Given the description of an element on the screen output the (x, y) to click on. 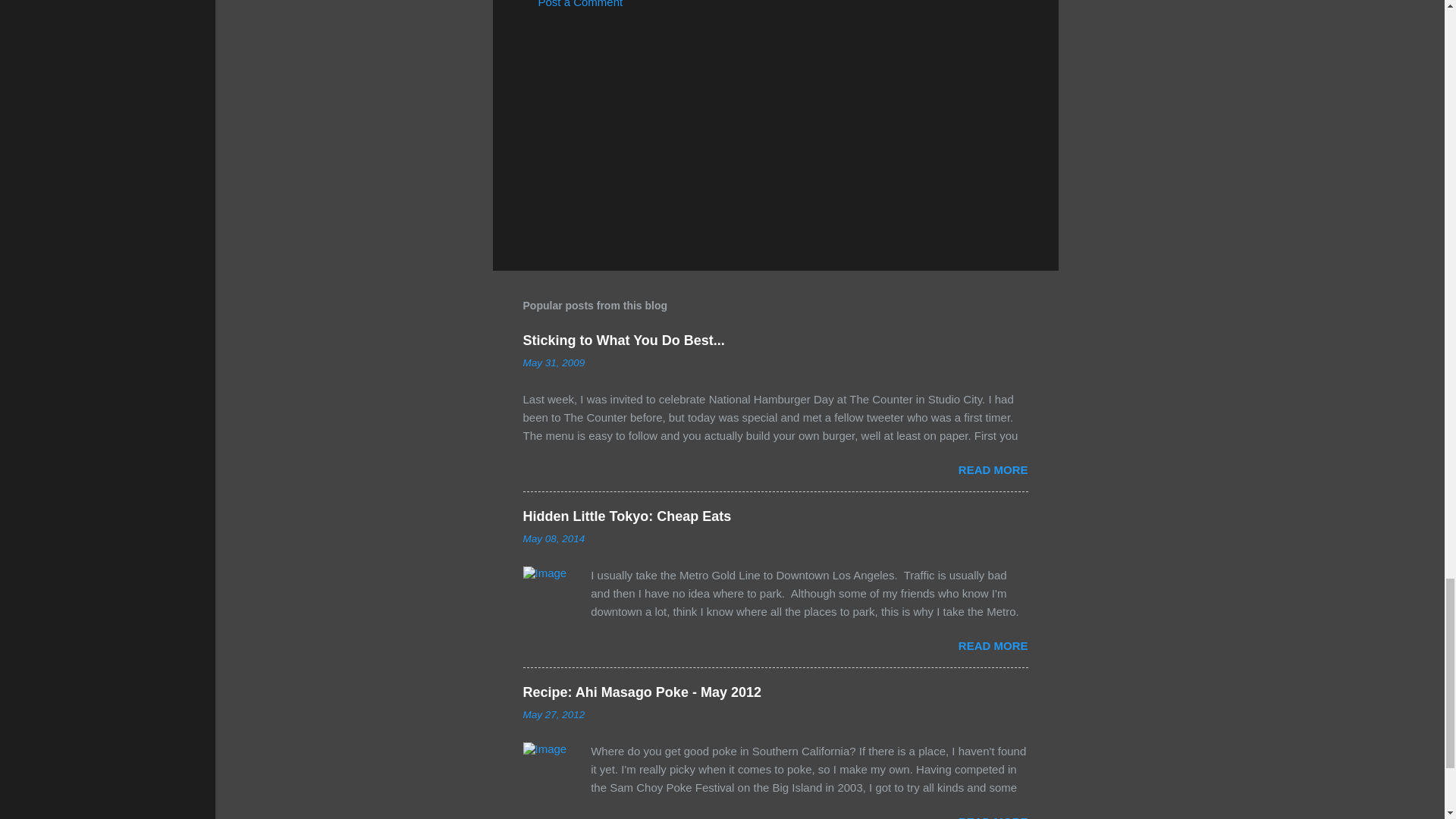
Hidden Little Tokyo: Cheap Eats (627, 516)
May 31, 2009 (553, 362)
Sticking to What You Do Best... (623, 340)
READ MORE (992, 469)
permanent link (553, 362)
May 08, 2014 (553, 538)
Post a Comment (580, 4)
